Given the description of an element on the screen output the (x, y) to click on. 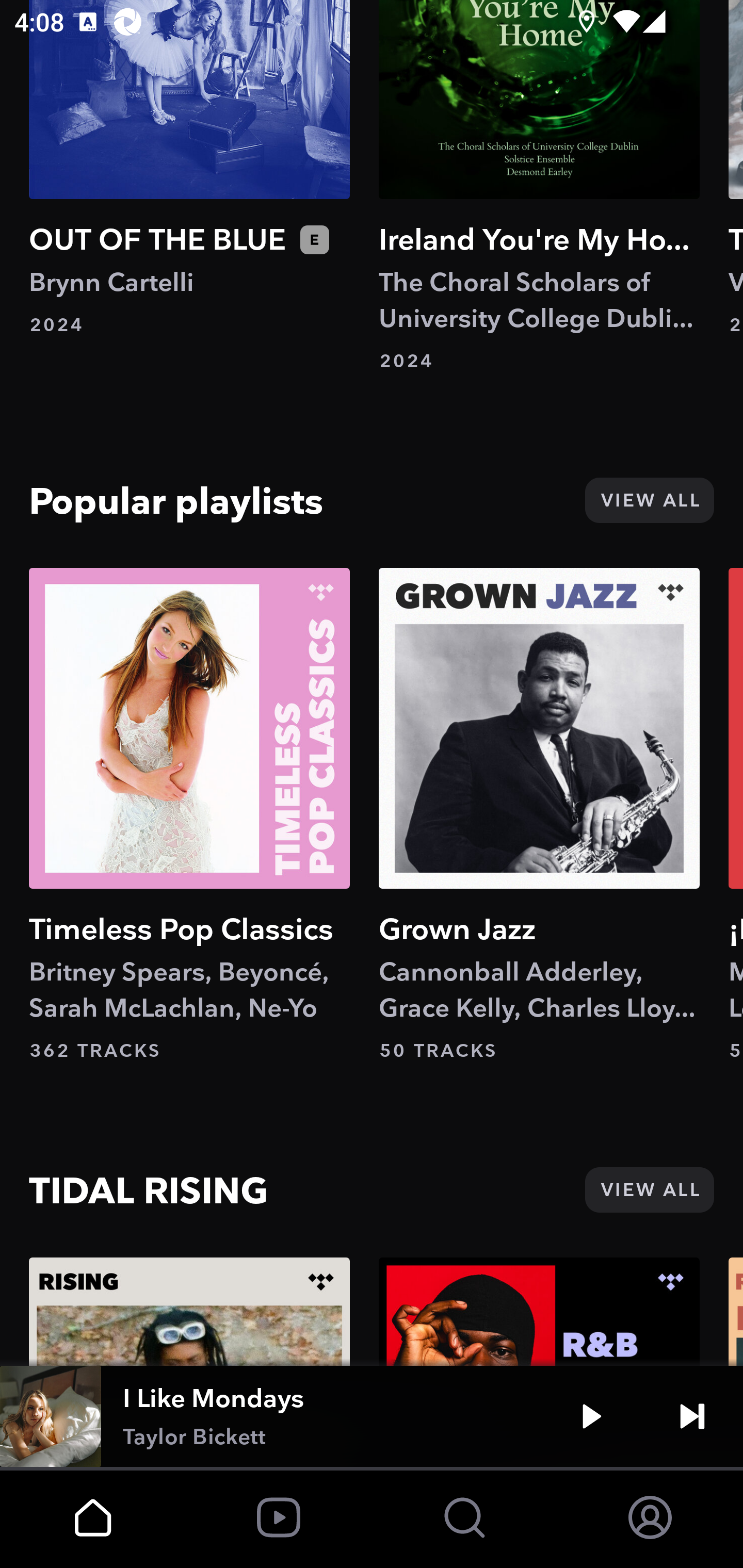
OUT OF THE BLUE Brynn Cartelli 2024 (188, 168)
VIEW ALL (649, 500)
VIEW ALL (649, 1189)
I Like Mondays Taylor Bickett Play (371, 1416)
Play (590, 1416)
